Given the description of an element on the screen output the (x, y) to click on. 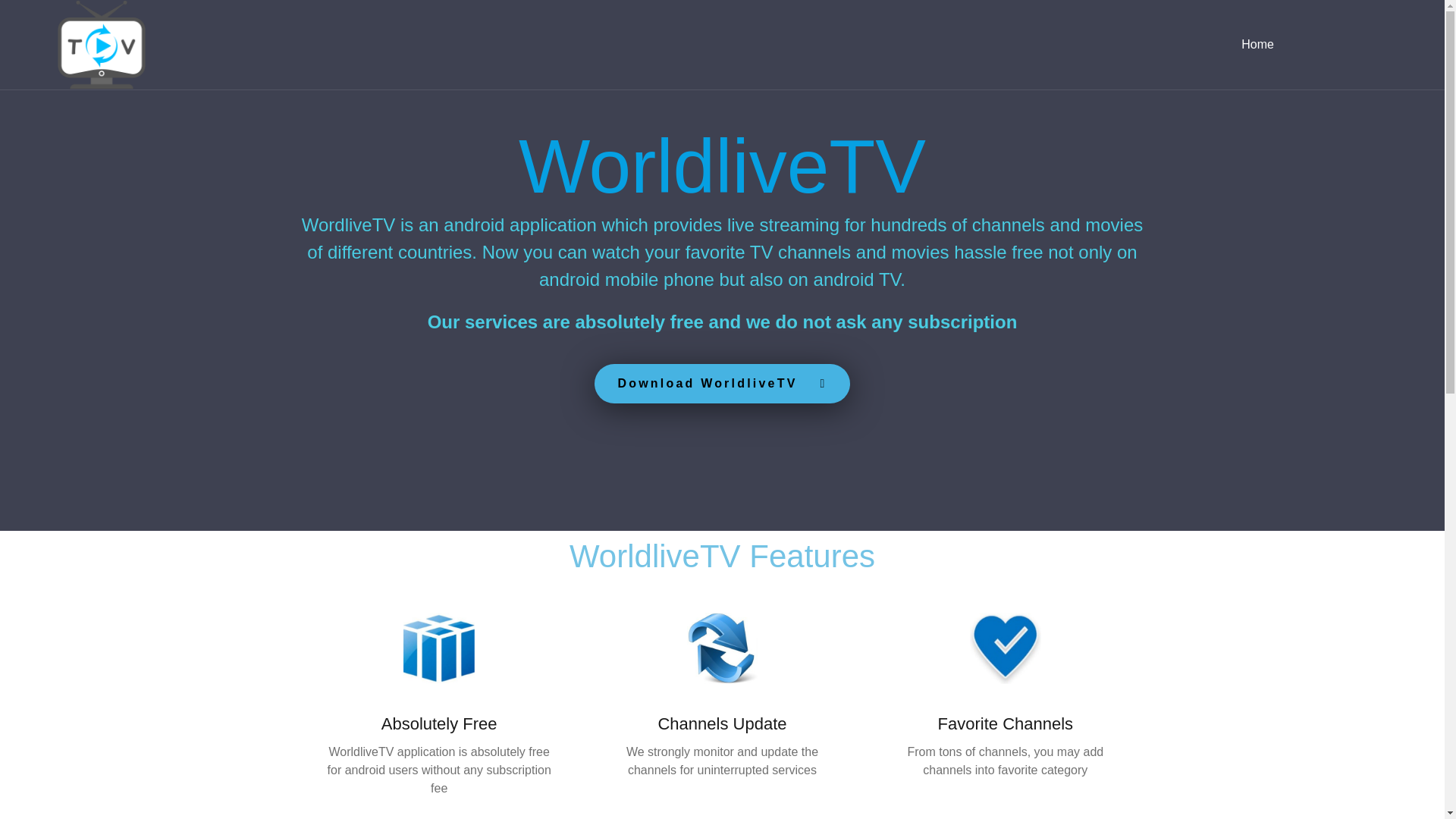
Home (1257, 45)
Download WorldliveTV (721, 383)
